Given the description of an element on the screen output the (x, y) to click on. 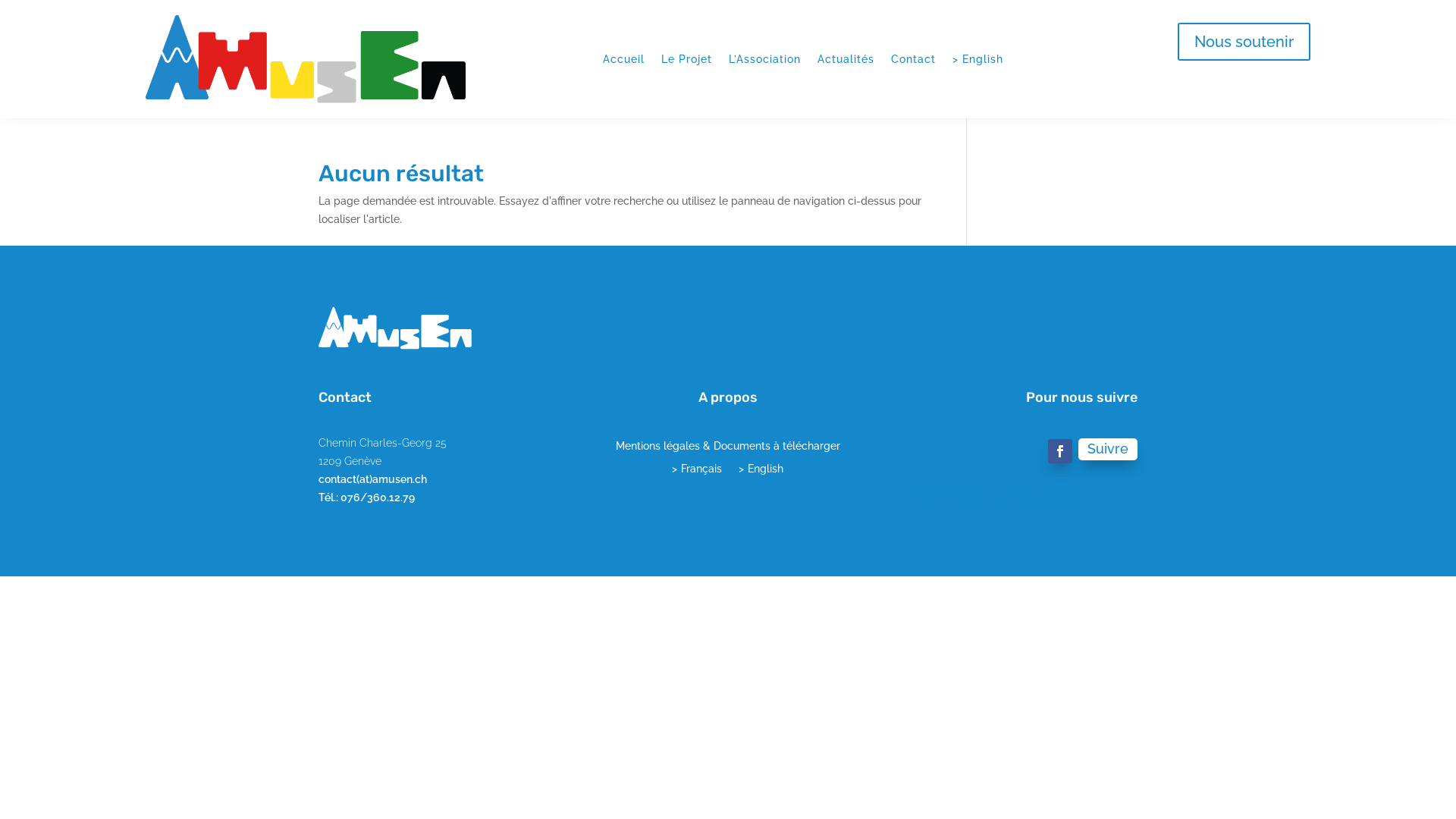
Nous soutenir Element type: text (1243, 41)
Suivez sur Facebook Element type: hover (1060, 451)
Accueil Element type: text (623, 59)
Contact Element type: text (913, 59)
Le Projet Element type: text (686, 59)
English Element type: text (977, 59)
logo_logo_AMusEn-white Element type: hover (394, 328)
contact(at)amusen.ch Element type: text (372, 479)
English Element type: text (760, 471)
Suivre Element type: text (1107, 449)
